Given the description of an element on the screen output the (x, y) to click on. 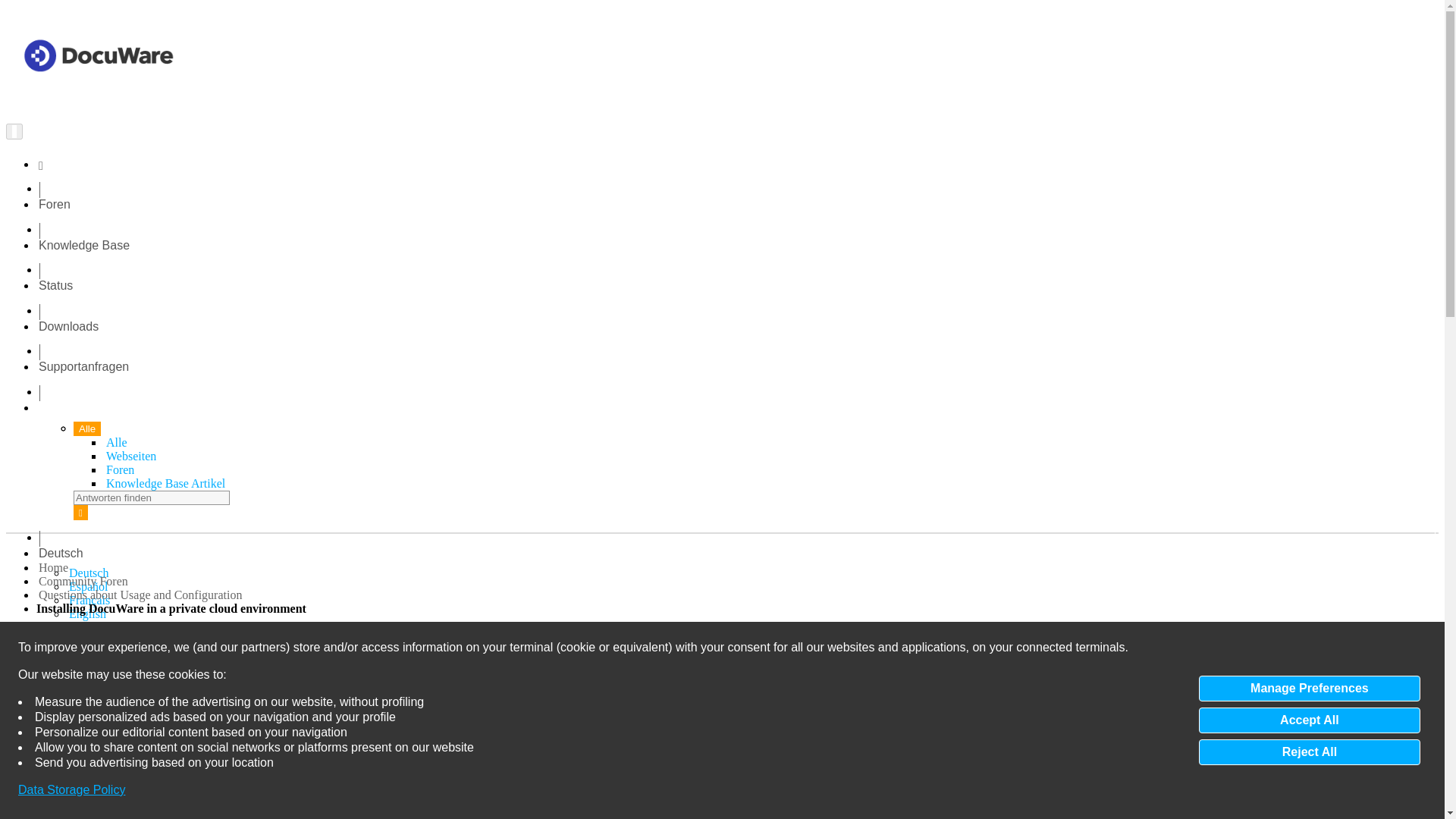
Foren (54, 204)
Downloads (69, 326)
Manage Preferences (1309, 688)
Antworten finden (152, 496)
Foren (119, 468)
Alle (117, 440)
Questions about Usage and Configuration (140, 594)
Downloads (69, 326)
Knowledge Base (84, 244)
Supportanfragen (84, 366)
Deutsch (87, 572)
Deutsch (87, 572)
02.12.2020 04:59 (106, 681)
Deutsch (60, 553)
Knowledge Base Artikel (165, 481)
